Given the description of an element on the screen output the (x, y) to click on. 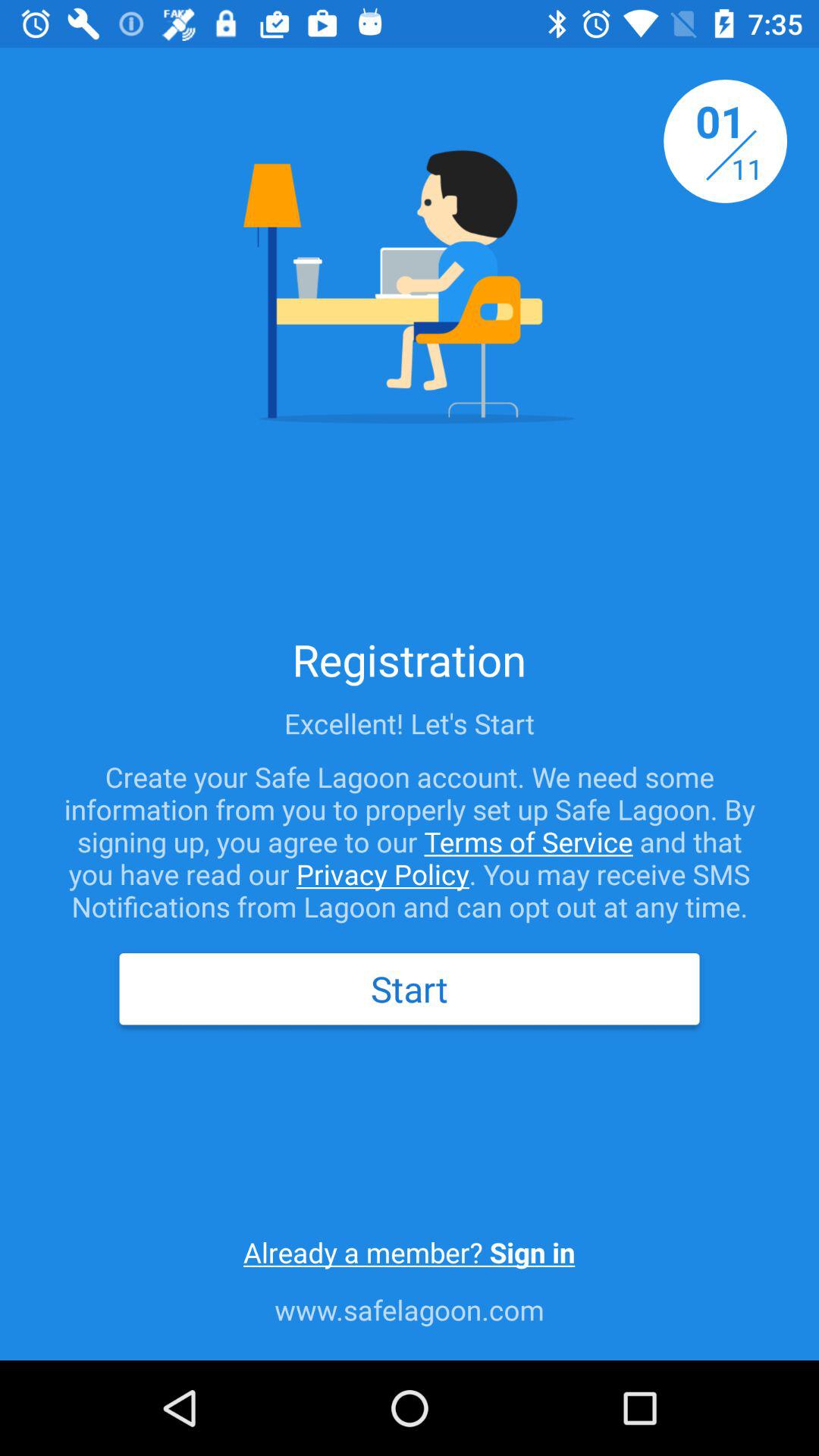
tap item below the start icon (408, 1252)
